Given the description of an element on the screen output the (x, y) to click on. 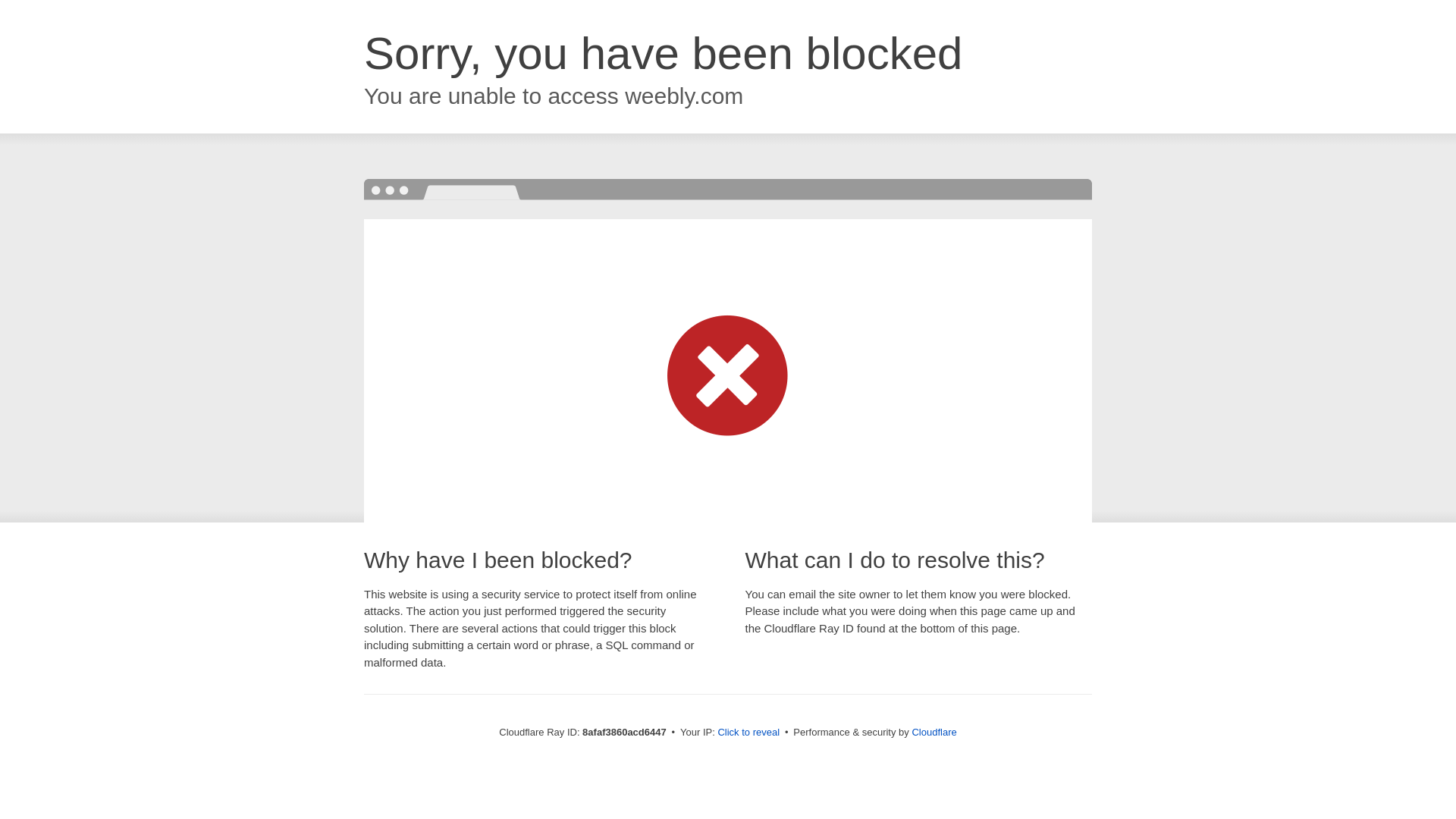
Cloudflare (933, 731)
Click to reveal (747, 732)
